Given the description of an element on the screen output the (x, y) to click on. 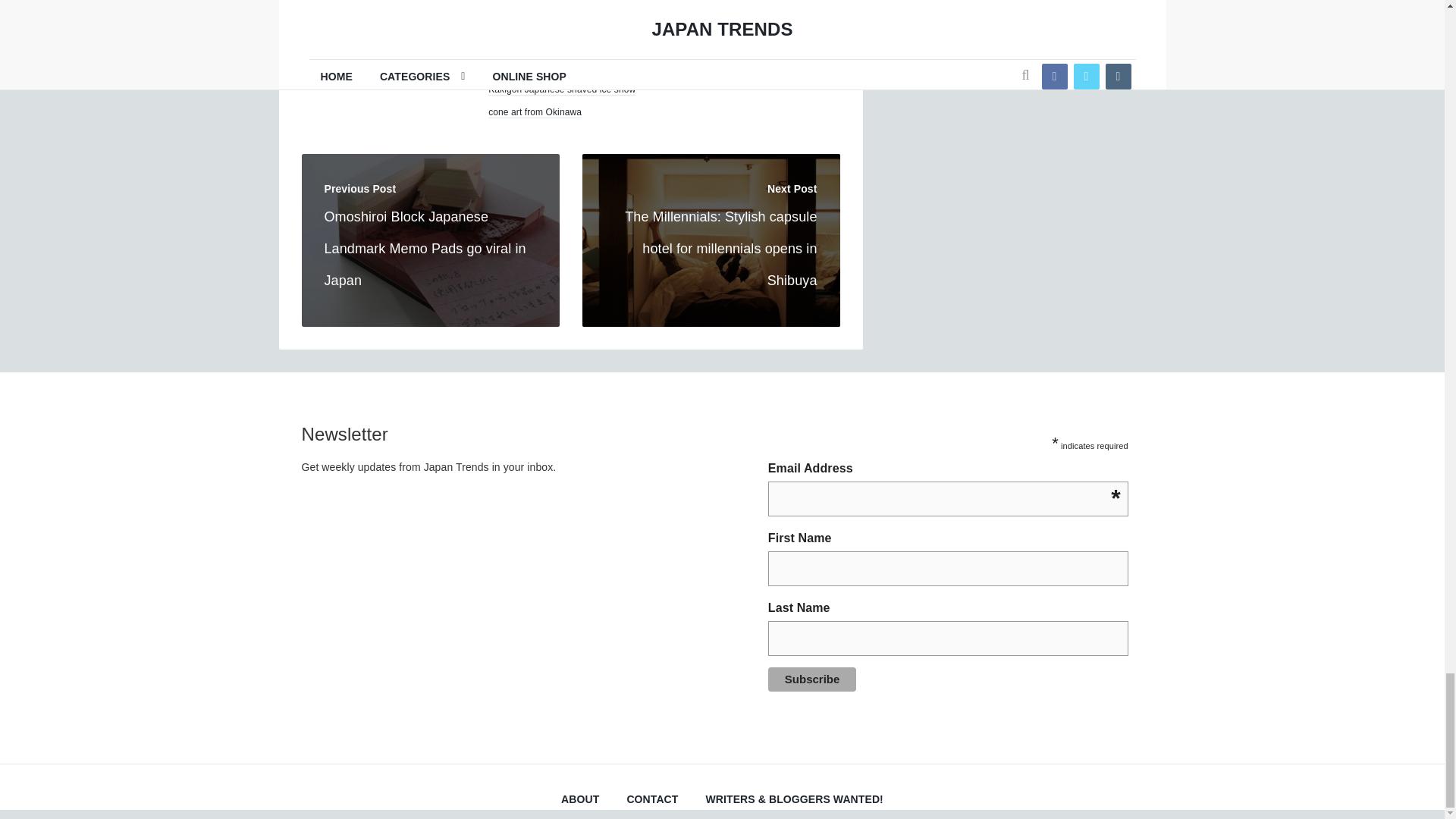
Tokyo hit by snow storm, records the most snow in 45 years (757, 12)
Subscribe (812, 679)
Tokyo hit by snow storm, records the most snow in 45 years (750, 63)
